Given the description of an element on the screen output the (x, y) to click on. 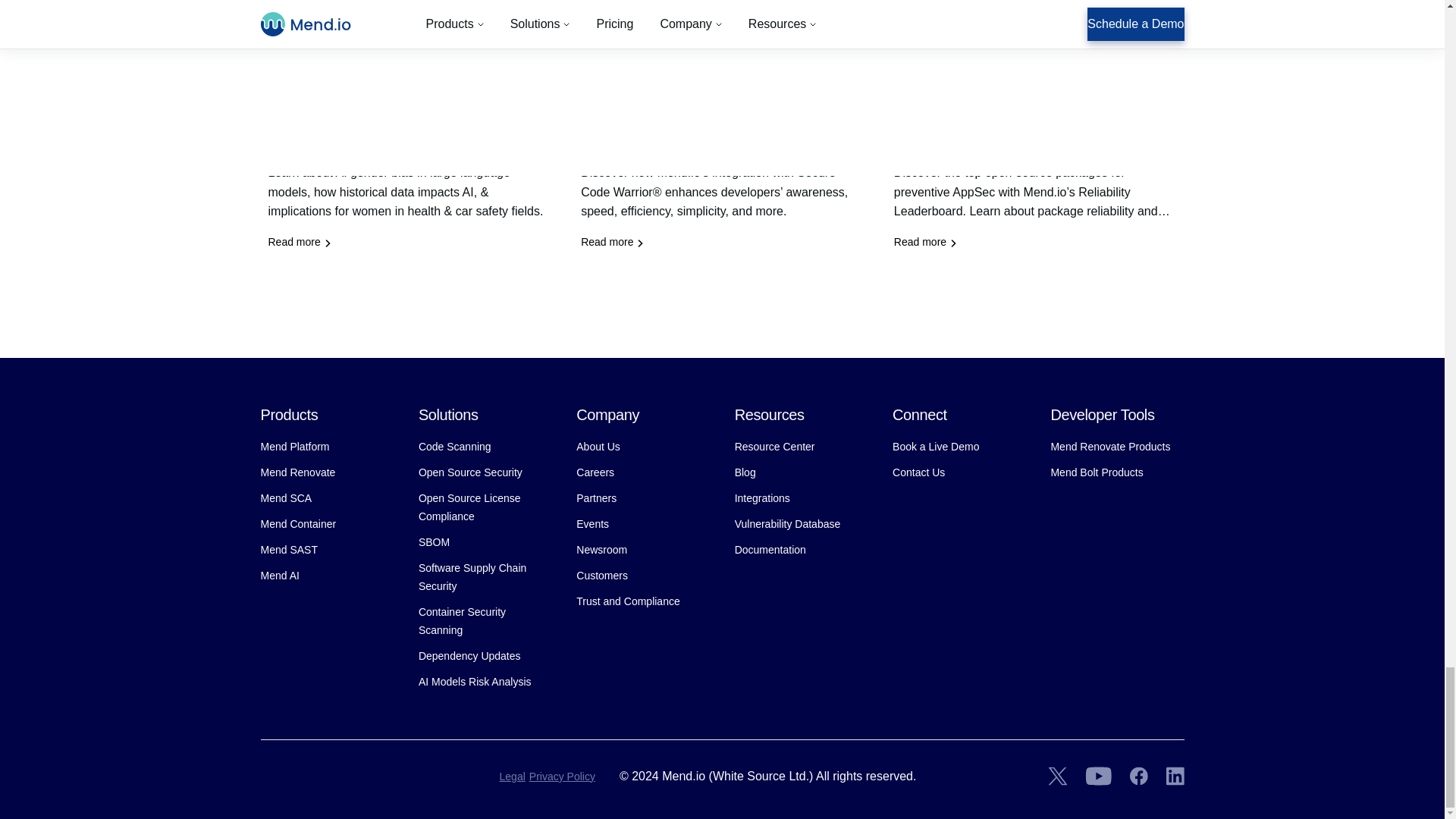
Company (607, 414)
Read more  (924, 242)
Resources (770, 414)
Read more  (299, 242)
Solutions (449, 414)
Developer Tools (1101, 414)
Read more  (611, 242)
Products (289, 414)
Read more  (1035, 133)
Connect (919, 414)
